Given the description of an element on the screen output the (x, y) to click on. 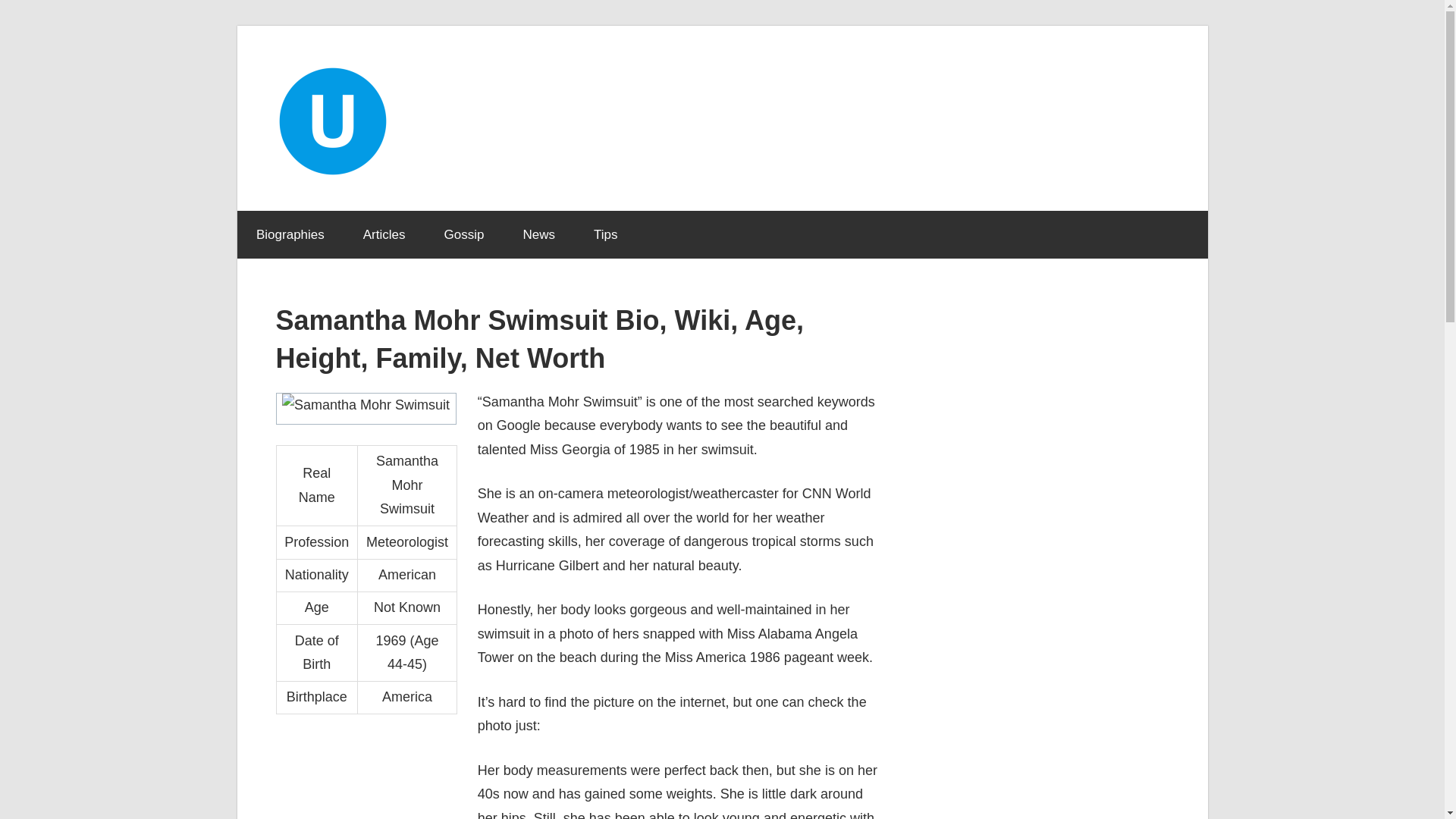
Gossip (464, 234)
News (539, 234)
Biographies (289, 234)
Tips (605, 234)
Articles (384, 234)
